Given the description of an element on the screen output the (x, y) to click on. 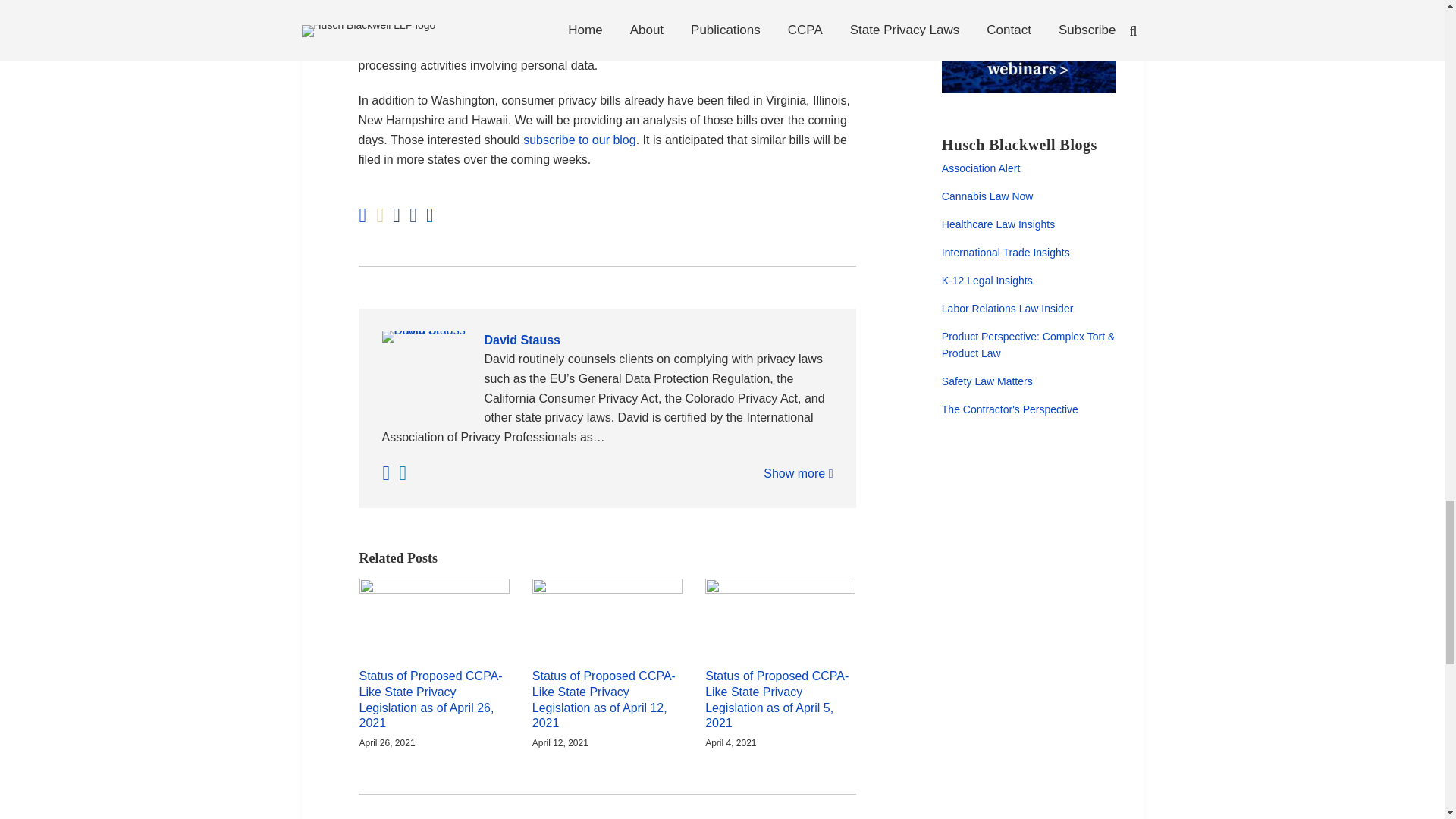
David Stauss (606, 340)
subscribe to our blog (579, 139)
Show more (797, 472)
